Given the description of an element on the screen output the (x, y) to click on. 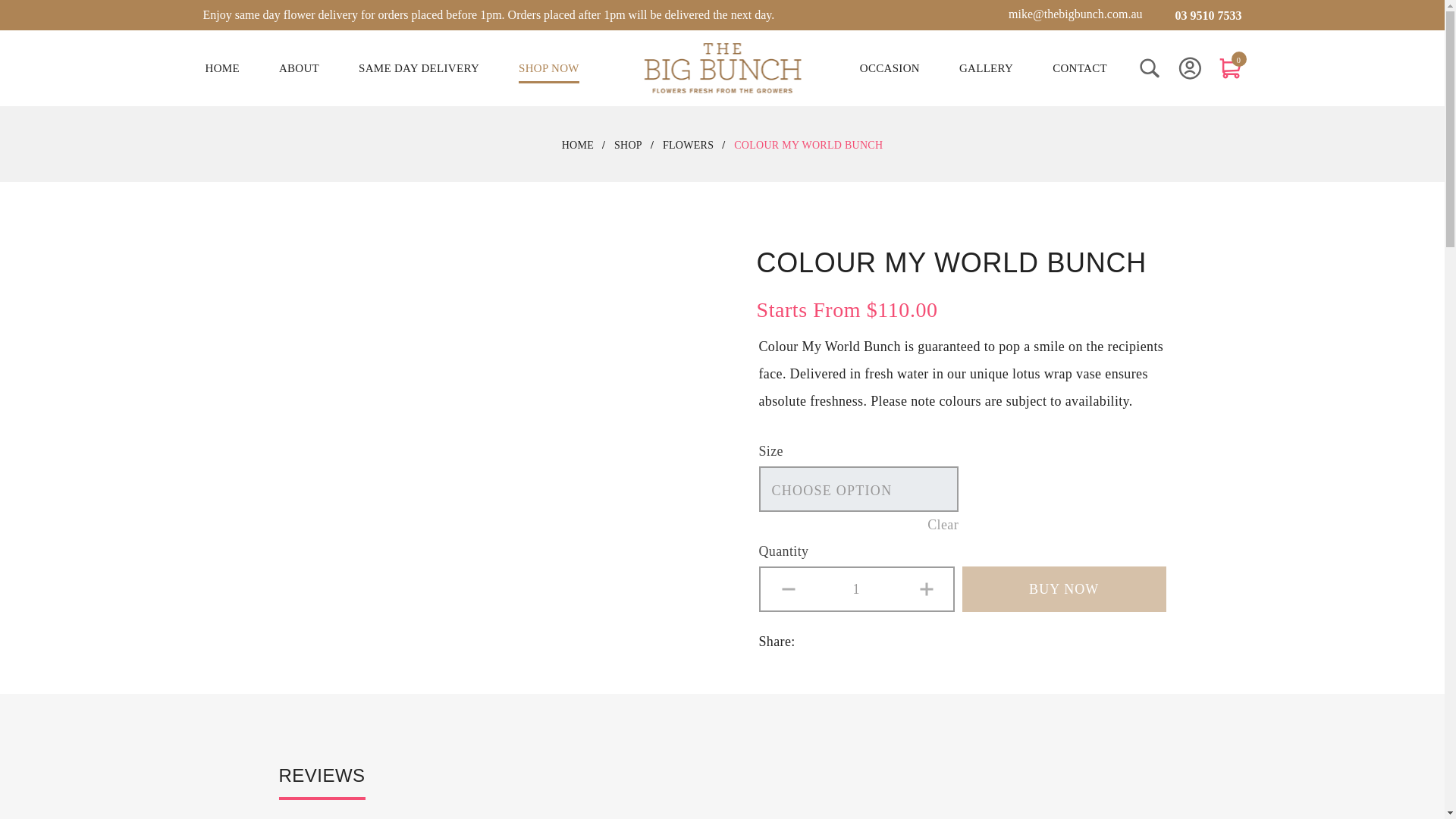
SHOP (628, 144)
0 (1231, 66)
1 (856, 589)
Qty (856, 589)
HOME (578, 144)
Cart (1231, 66)
03 9510 7533 (1197, 15)
SAME DAY DELIVERY (418, 68)
03 9510 7533 (1197, 15)
The Big Bunch (721, 68)
